Given the description of an element on the screen output the (x, y) to click on. 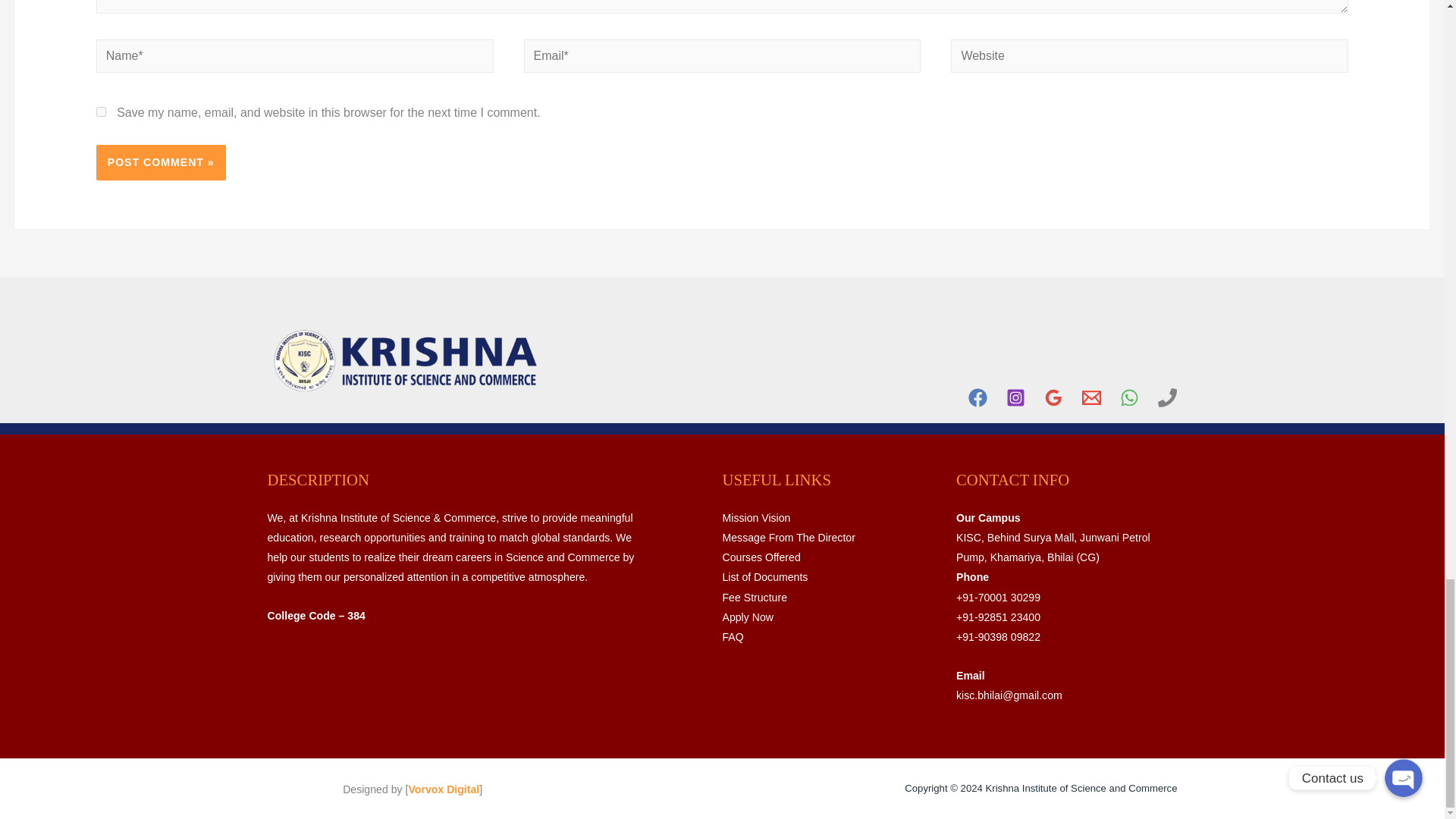
yes (101, 112)
